Given the description of an element on the screen output the (x, y) to click on. 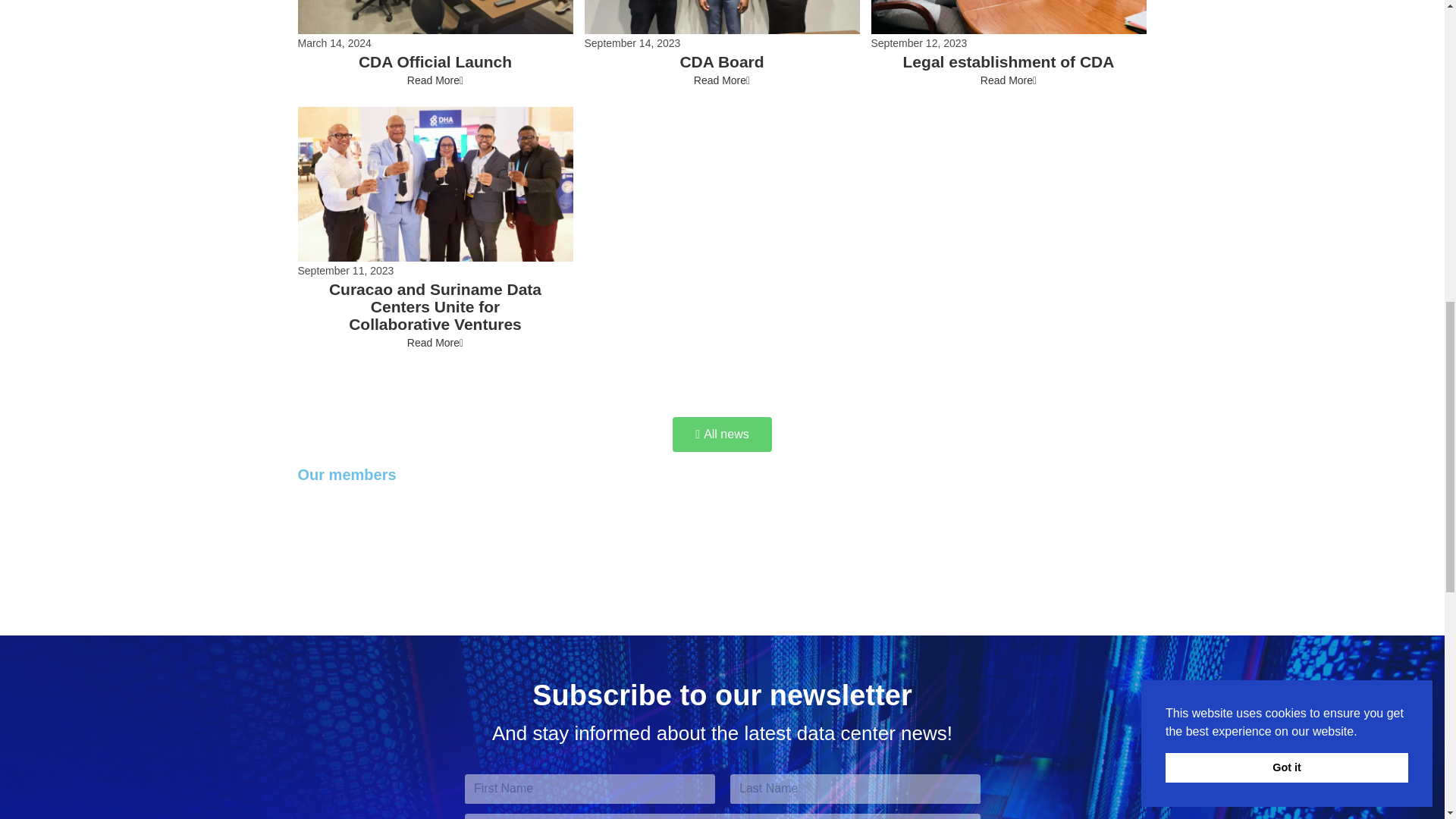
CDA Official Launch (435, 61)
CDA Board (720, 61)
Read More (435, 80)
Read More (1007, 80)
Legal establishment of CDA (1008, 61)
Read More (721, 80)
